Given the description of an element on the screen output the (x, y) to click on. 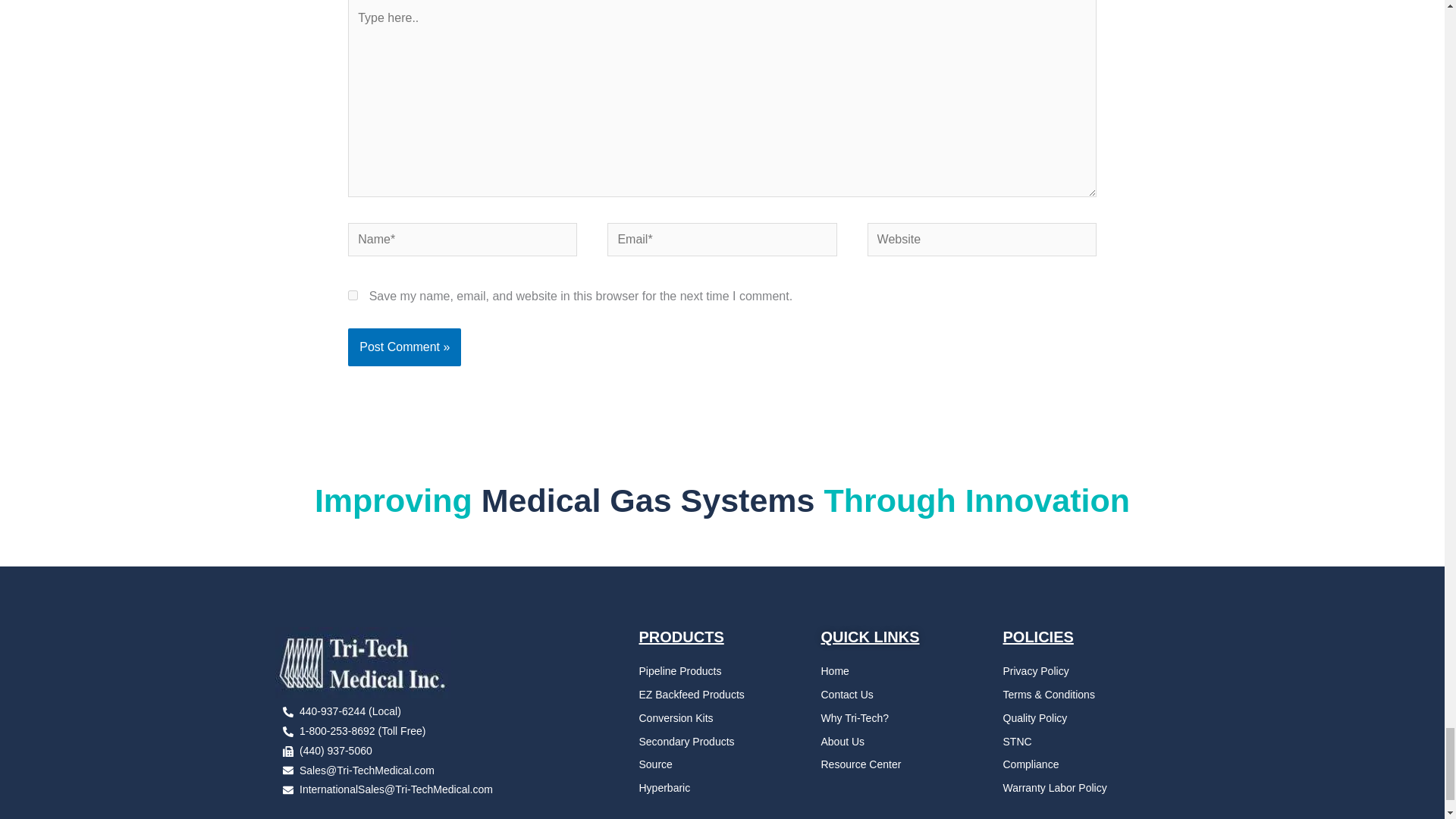
yes (352, 295)
